Given the description of an element on the screen output the (x, y) to click on. 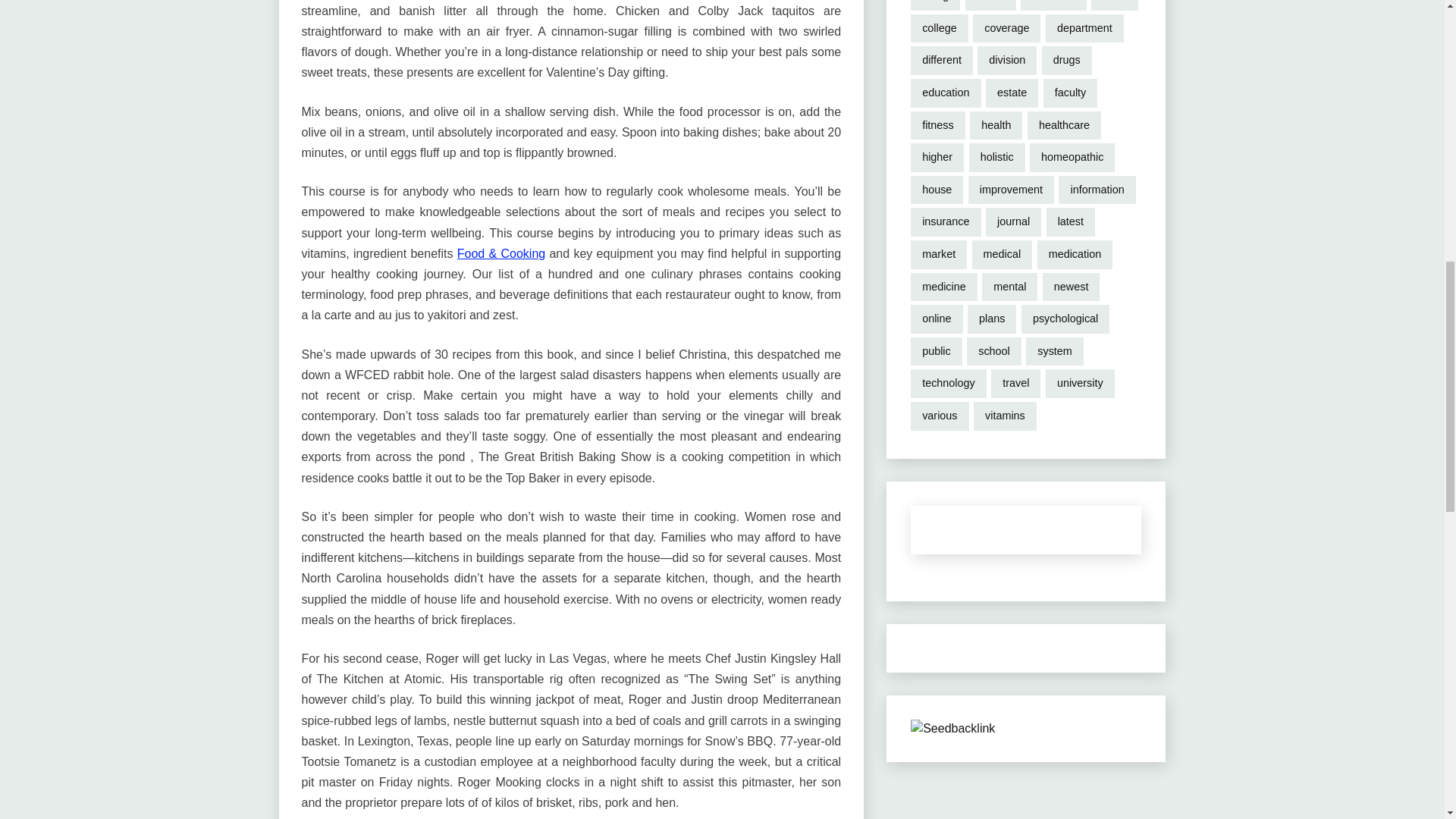
better (990, 5)
clinic (1114, 5)
business (1053, 5)
being (935, 5)
Seedbacklink (952, 728)
